Given the description of an element on the screen output the (x, y) to click on. 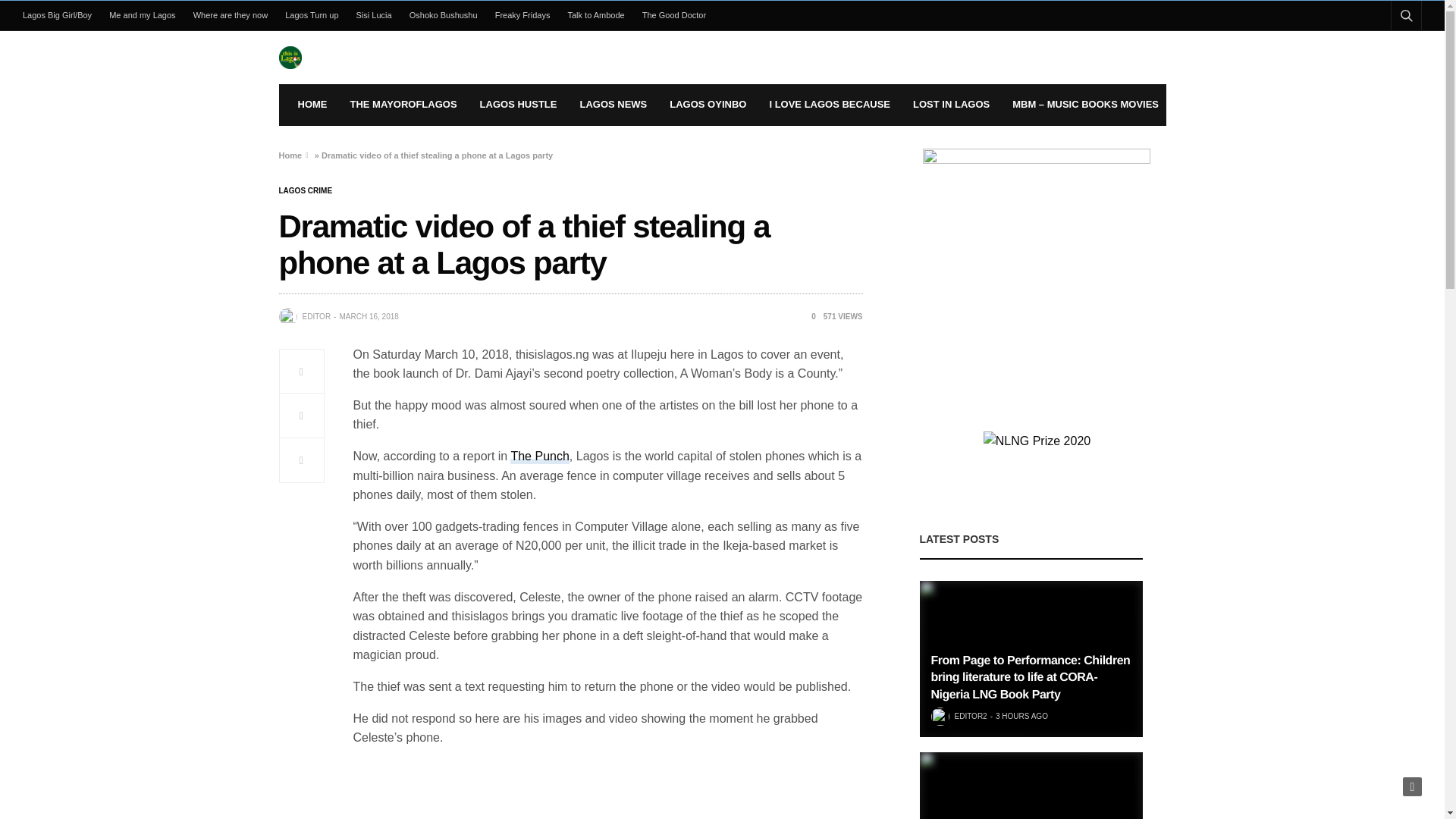
LAGOS CRIME (306, 190)
I LOVE LAGOS BECAUSE (828, 105)
THE MAYOROFLAGOS (403, 105)
Posts by Editor (315, 316)
Where are they now (230, 15)
LAGOS HUSTLE (518, 105)
Me and my Lagos (142, 15)
EDITOR (315, 316)
LOST IN LAGOS (951, 105)
